Given the description of an element on the screen output the (x, y) to click on. 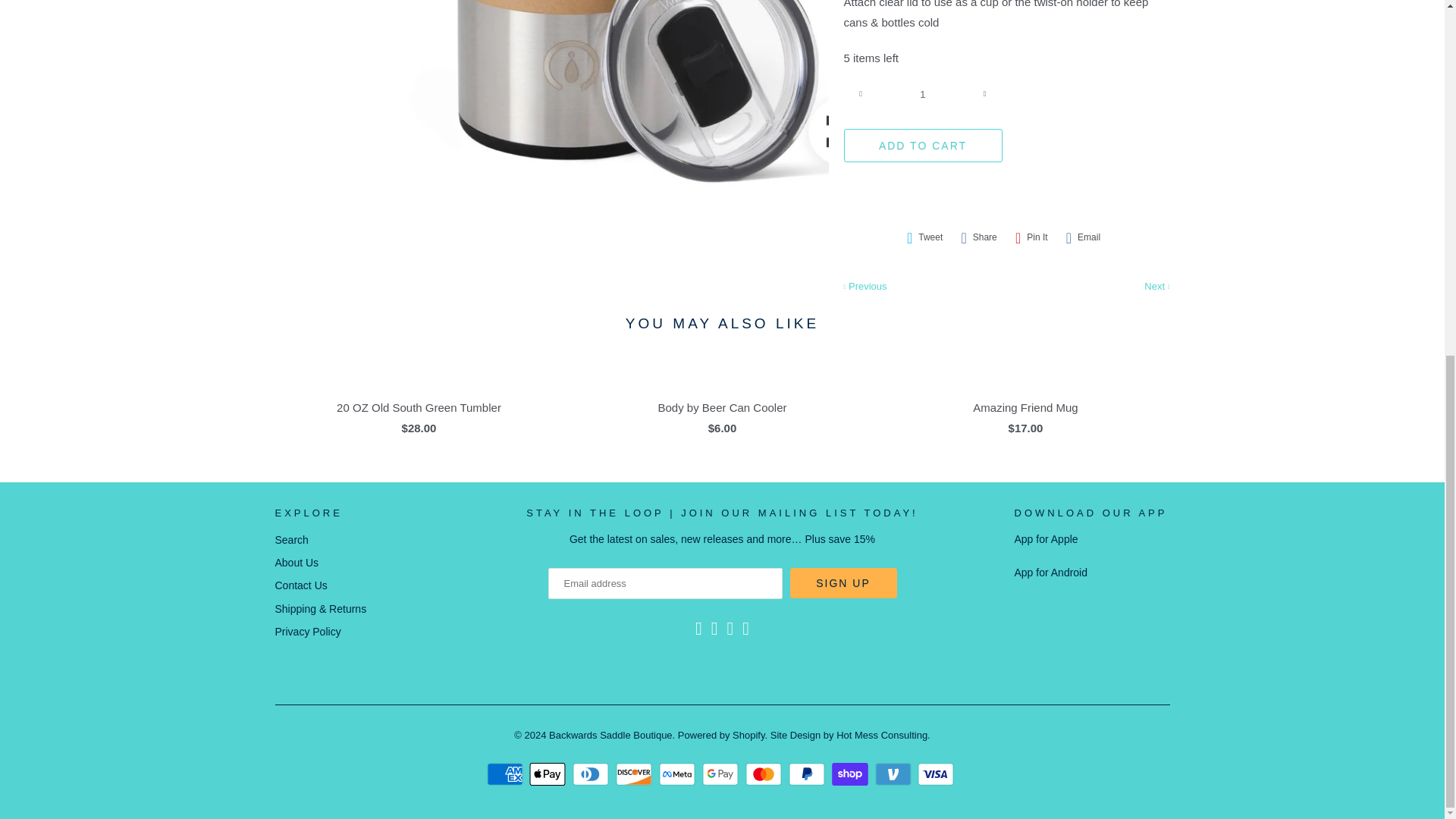
Discover (635, 773)
Sign Up (843, 583)
1 (922, 93)
Visa (937, 773)
American Express (506, 773)
Stainless Steel 12oz Combo Cooler (606, 101)
Mastercard (765, 773)
Apple Pay (549, 773)
Share this on Twitter (924, 237)
Venmo (895, 773)
